Given the description of an element on the screen output the (x, y) to click on. 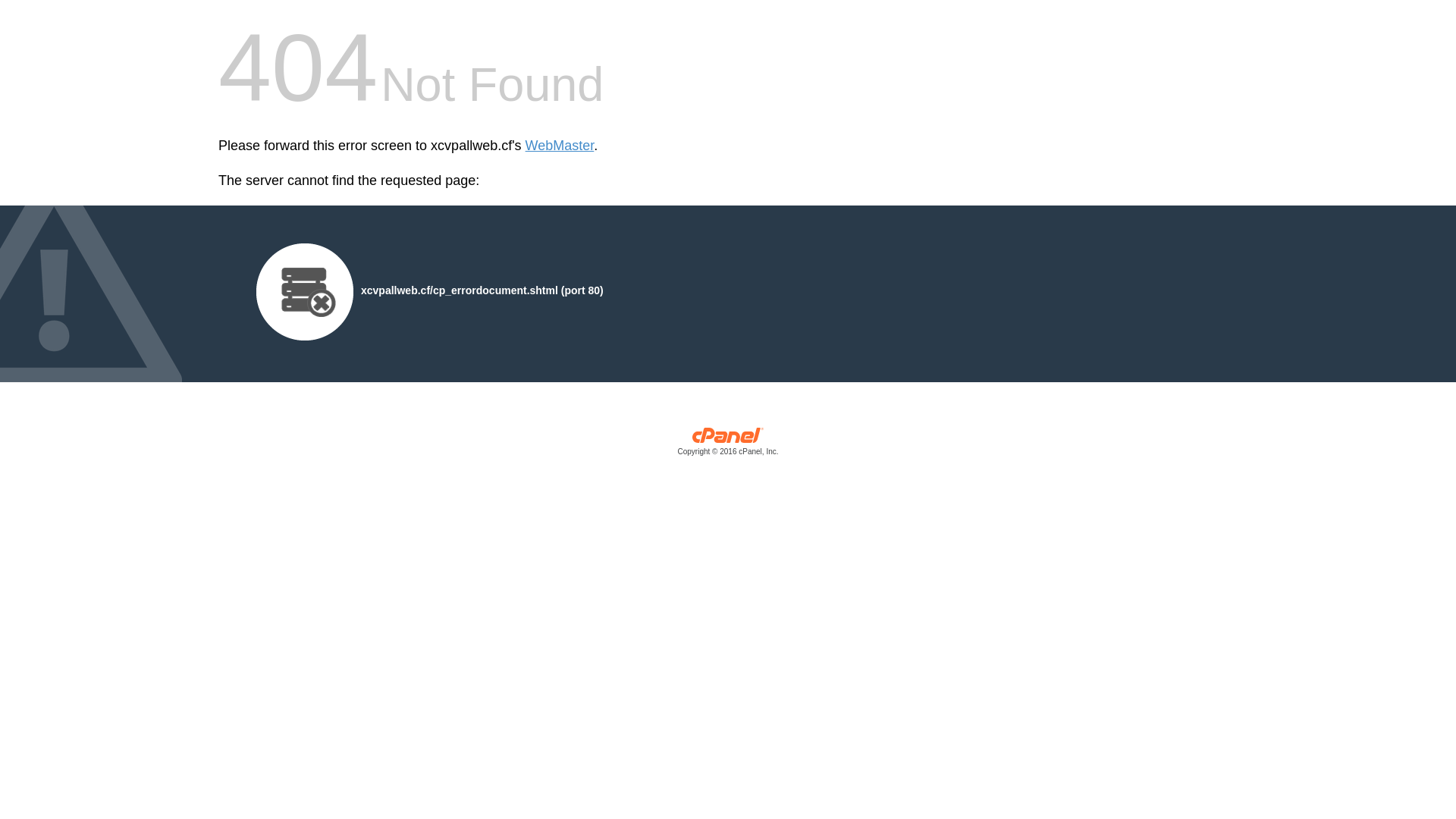
WebMaster Element type: text (559, 145)
